Given the description of an element on the screen output the (x, y) to click on. 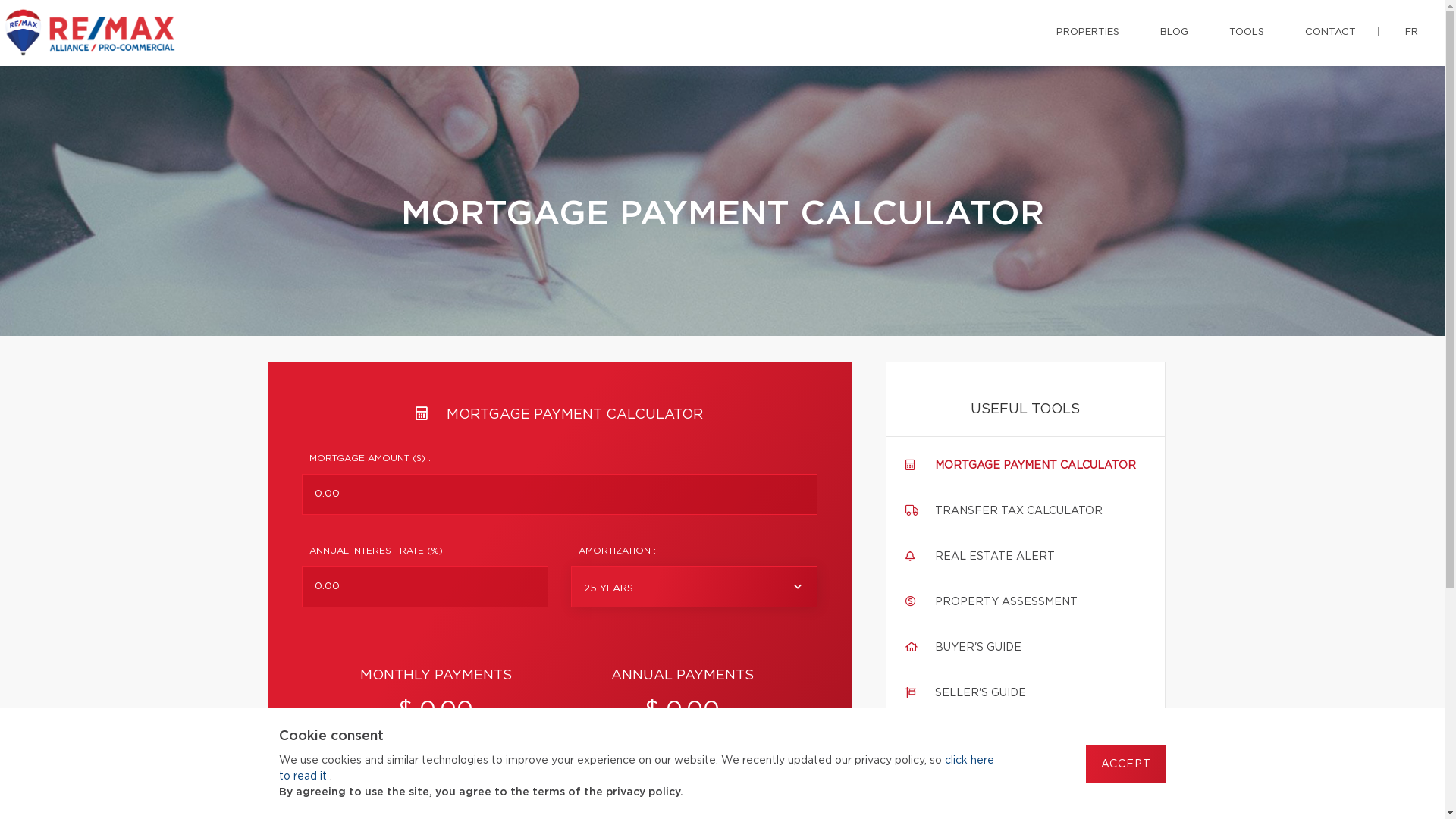
BLOG Element type: text (1173, 32)
FR Element type: text (1411, 32)
REAL ESTATE ALERT Element type: text (994, 556)
BUYER'S GUIDE Element type: text (977, 647)
PROPERTY ASSESSMENT Element type: text (1005, 601)
CALCULATE MY PAYMENTS  Element type: text (559, 779)
PROPERTIES Element type: text (1087, 32)
SELLER'S GUIDE Element type: text (979, 692)
CONTACT Element type: text (1330, 32)
TOOLS Element type: text (1246, 32)
MORTGAGE PAYMENT CALCULATOR Element type: text (1034, 465)
ACCEPT Element type: text (1125, 763)
TRANSFER TAX CALCULATOR Element type: text (1017, 510)
click here to read it Element type: text (636, 768)
